Given the description of an element on the screen output the (x, y) to click on. 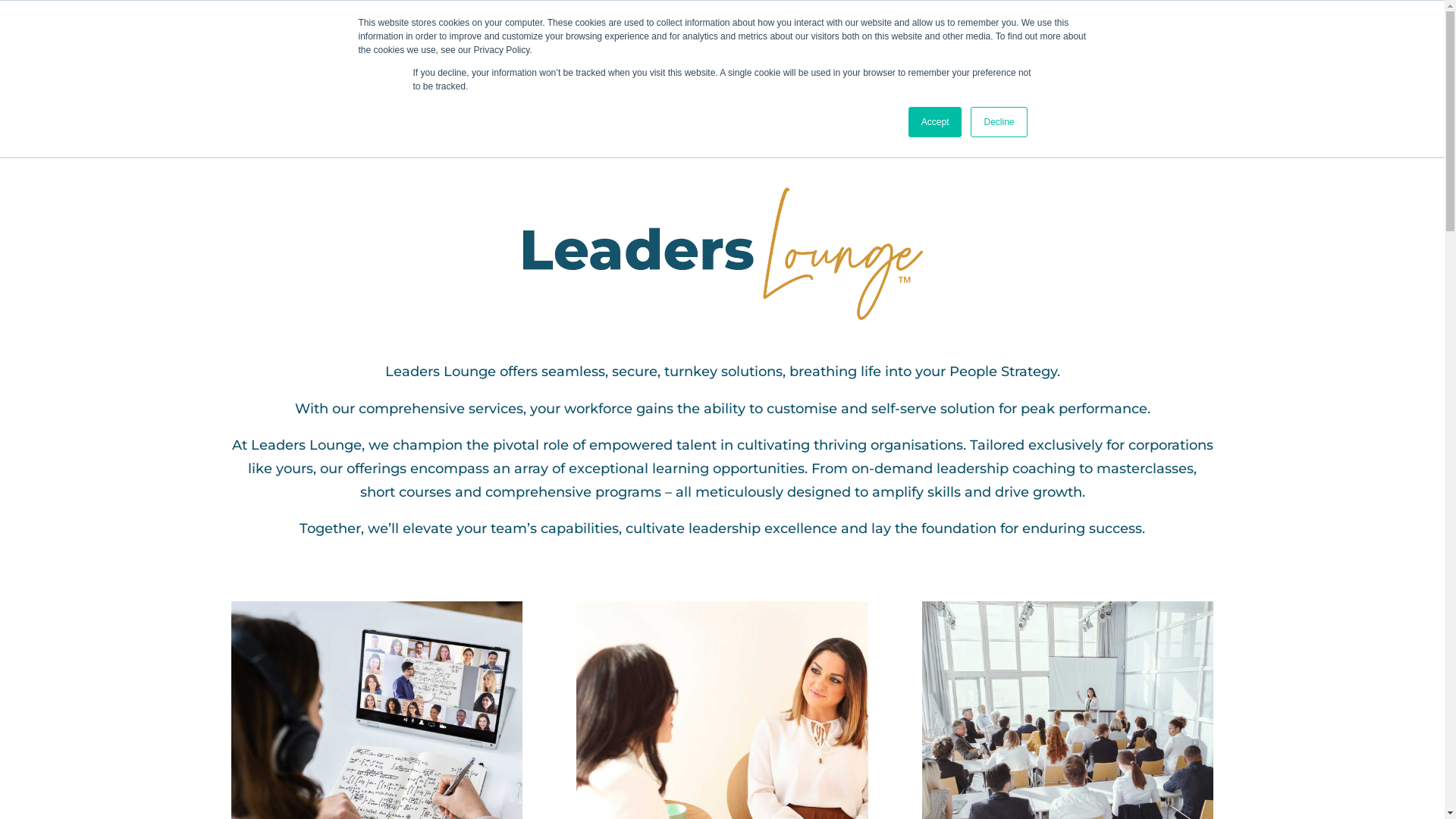
Join Element type: text (1013, 46)
Our Services Element type: text (776, 46)
Decline Element type: text (998, 121)
Leadership programs Element type: text (907, 46)
Home Element type: text (697, 46)
LL_PrimaryLogo_TM-01-1 Element type: hover (722, 252)
Accept Element type: text (935, 121)
Contact Element type: text (1074, 46)
Members Area Element type: text (1165, 46)
